Given the description of an element on the screen output the (x, y) to click on. 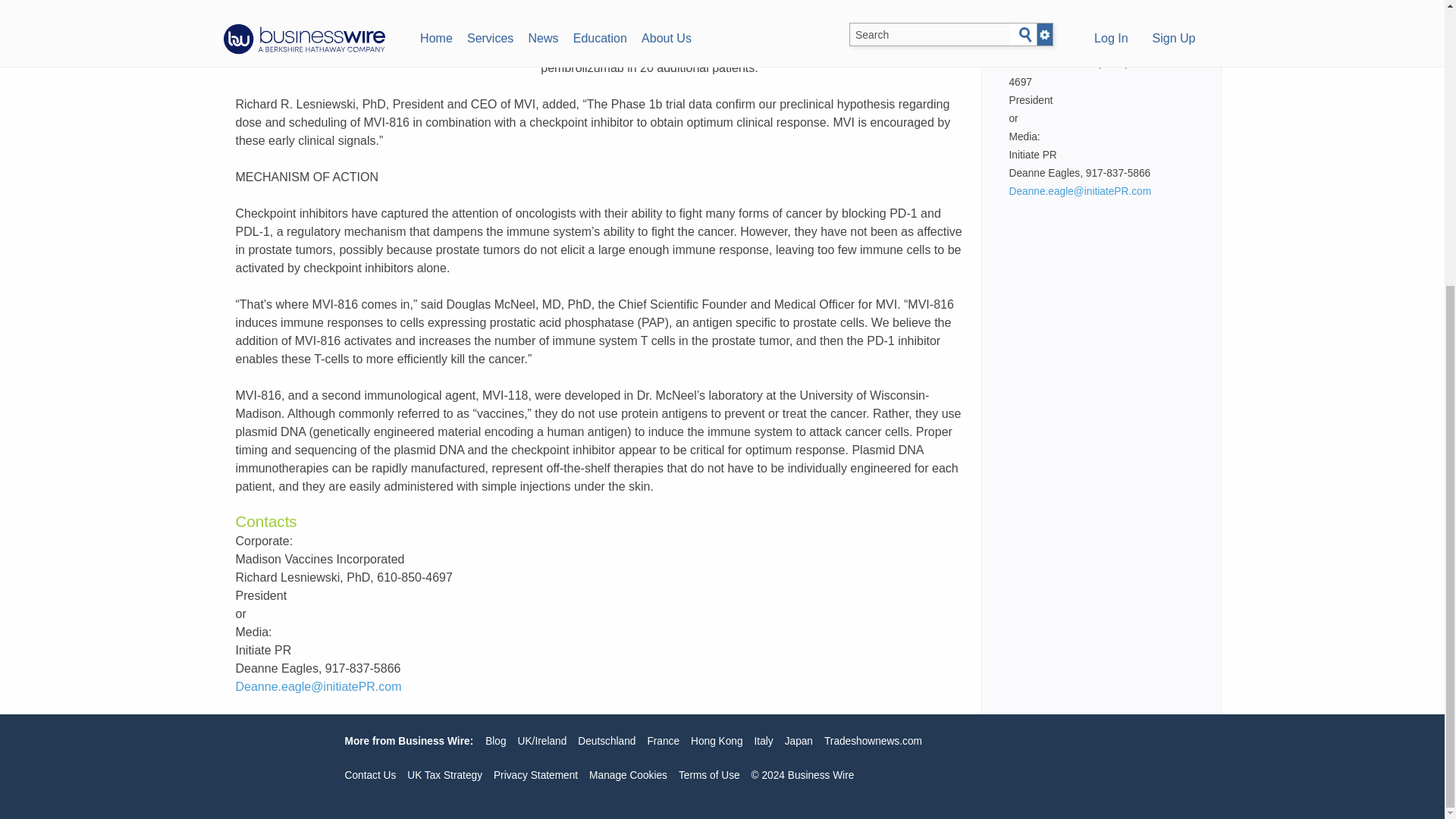
Post this (269, 36)
